Given the description of an element on the screen output the (x, y) to click on. 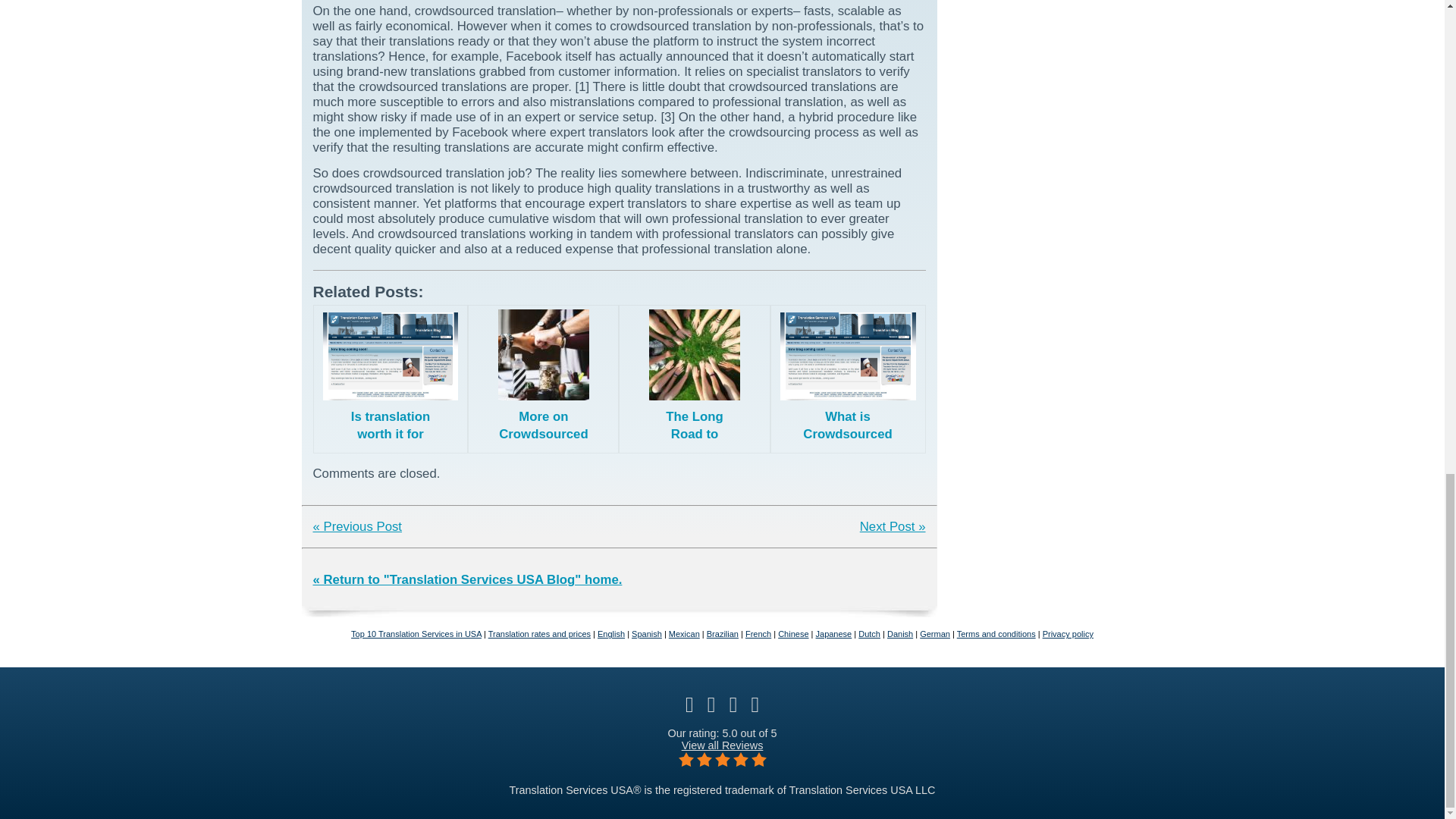
The Long Road to Crowdsourced Translation (694, 378)
What is Crowdsourced Translation? (848, 378)
Is translation worth it for ecommerce? (390, 378)
More on Crowdsourced Translation (542, 378)
